Given the description of an element on the screen output the (x, y) to click on. 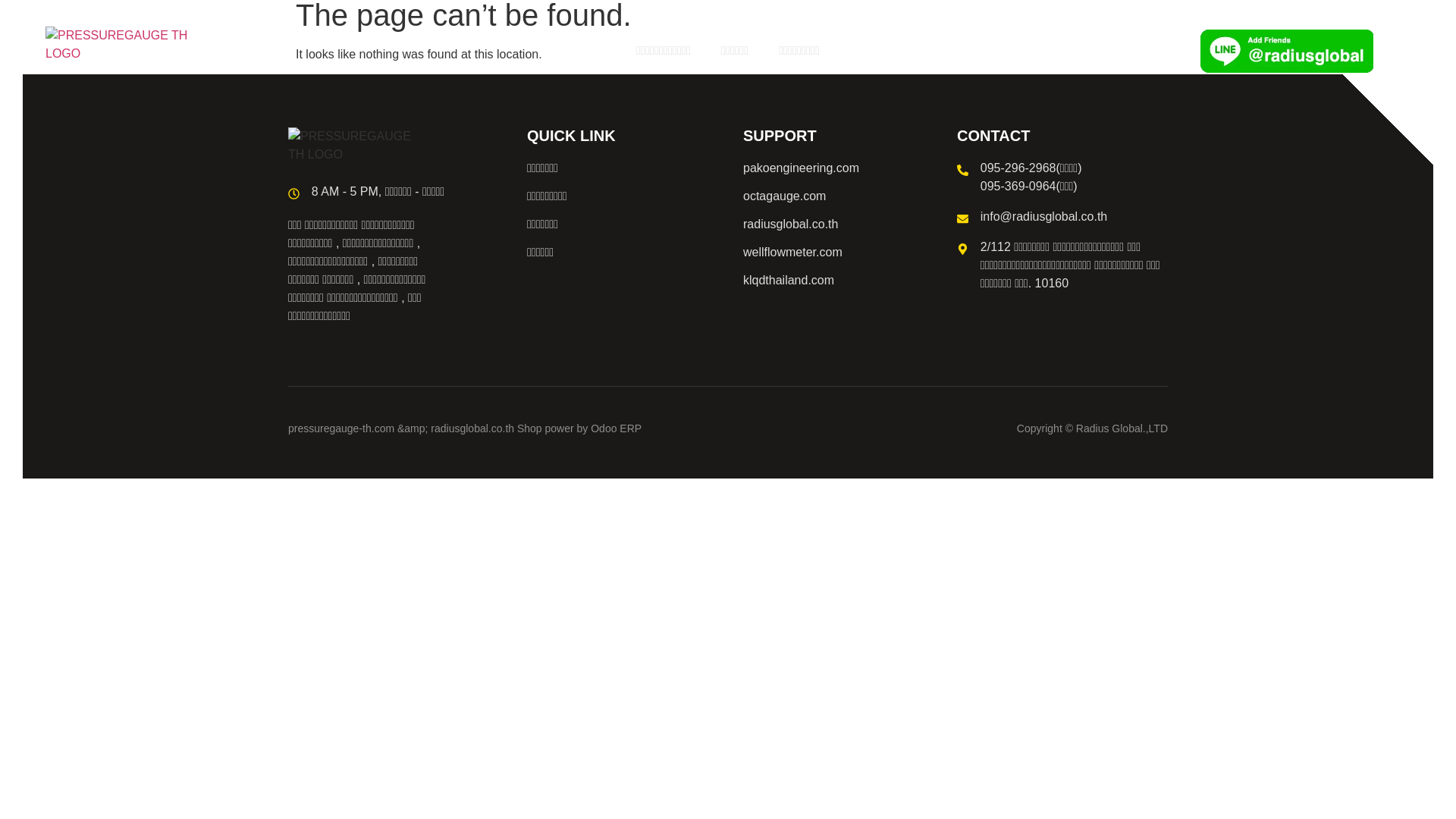
pakoengineering.com (842, 167)
klqdthailand.com (842, 280)
radiusglobal.co.th (842, 224)
octagauge.com (842, 196)
wellflowmeter.com (842, 252)
